Given the description of an element on the screen output the (x, y) to click on. 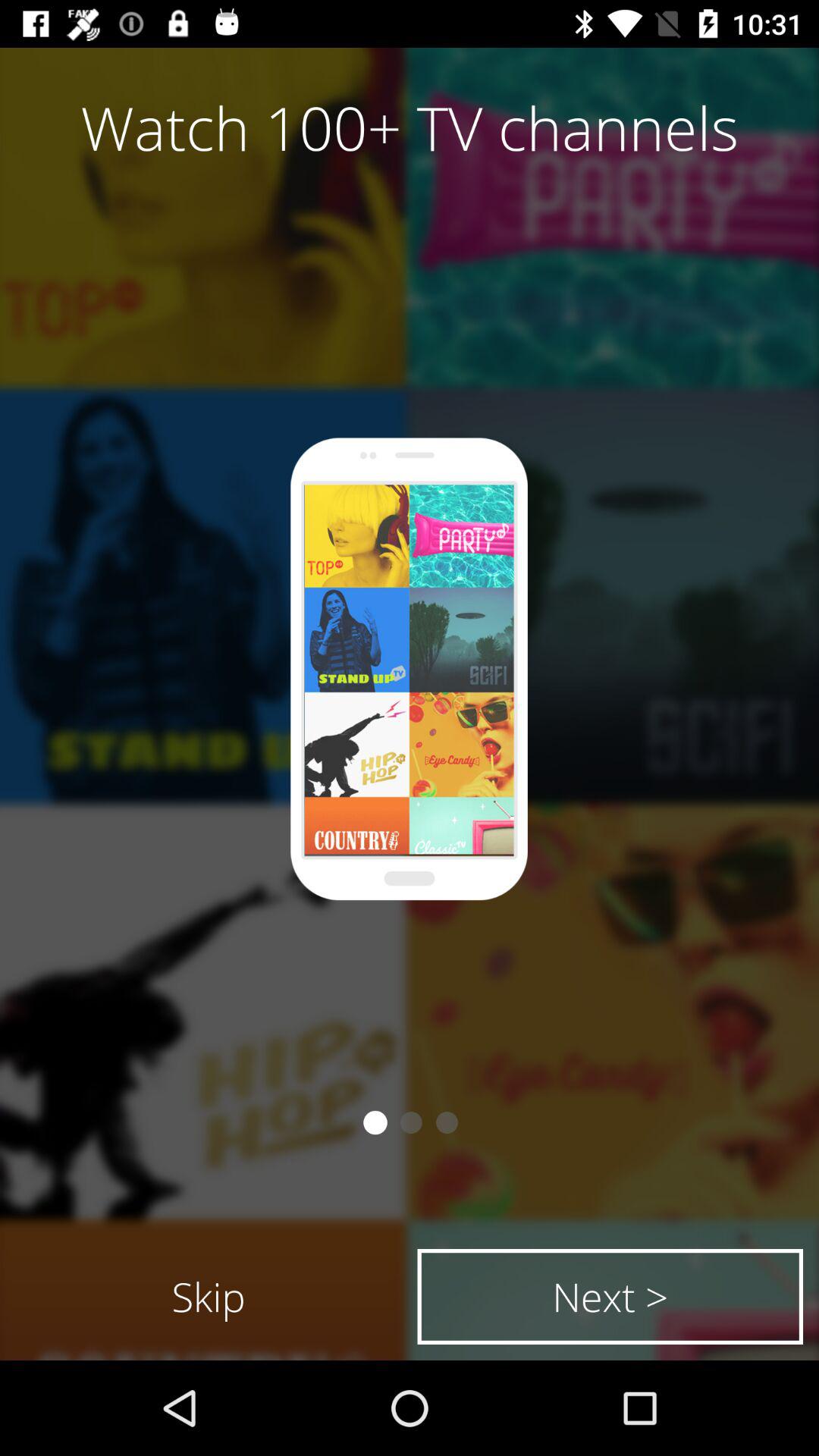
click the icon next to skip icon (610, 1296)
